Given the description of an element on the screen output the (x, y) to click on. 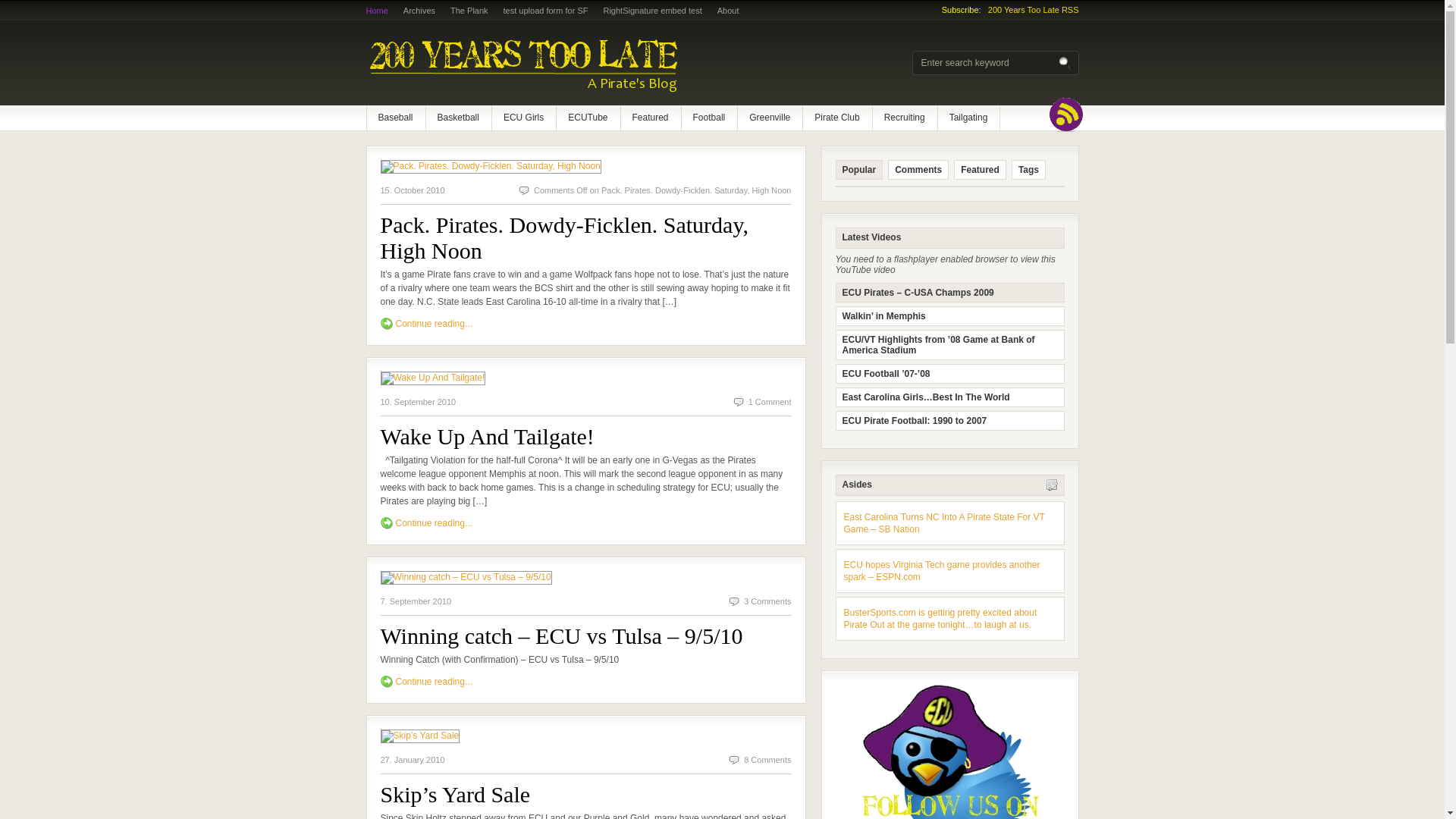
Continue reading... Element type: text (433, 681)
Football Element type: text (709, 117)
Wake Up And Tailgate! Element type: text (487, 435)
200 Years Too Late Element type: text (562, 64)
ECUTube Element type: text (587, 117)
Enter search keyword Element type: text (988, 62)
Baseball Element type: text (395, 117)
Permanent Link to Wake Up And Tailgate! Element type: hover (433, 377)
3 Comments Element type: text (766, 600)
ECU Pirate Football: 1990 to 2007 Element type: text (949, 420)
Archives Element type: text (419, 10)
The Plank Element type: text (469, 10)
Popular Element type: text (859, 169)
1 Comment Element type: text (769, 401)
Basketball Element type: text (458, 117)
Continue reading... Element type: text (433, 323)
Continue reading... Element type: text (433, 522)
Pirate Club Element type: text (836, 117)
test upload form for SF Element type: text (545, 10)
200 Years Too Late RSS Element type: text (1033, 9)
Pack. Pirates. Dowdy-Ficklen. Saturday, High Noon Element type: text (564, 237)
8 Comments Element type: text (766, 759)
Recruiting Element type: text (904, 117)
Comments Element type: text (918, 169)
RightSignature embed test Element type: text (651, 10)
About Element type: text (728, 10)
ECU Girls Element type: text (523, 117)
Greenville Element type: text (769, 117)
Tags Element type: text (1028, 169)
Featured Element type: text (979, 169)
Featured Element type: text (649, 117)
Tailgating Element type: text (968, 117)
Home Element type: text (376, 10)
